Given the description of an element on the screen output the (x, y) to click on. 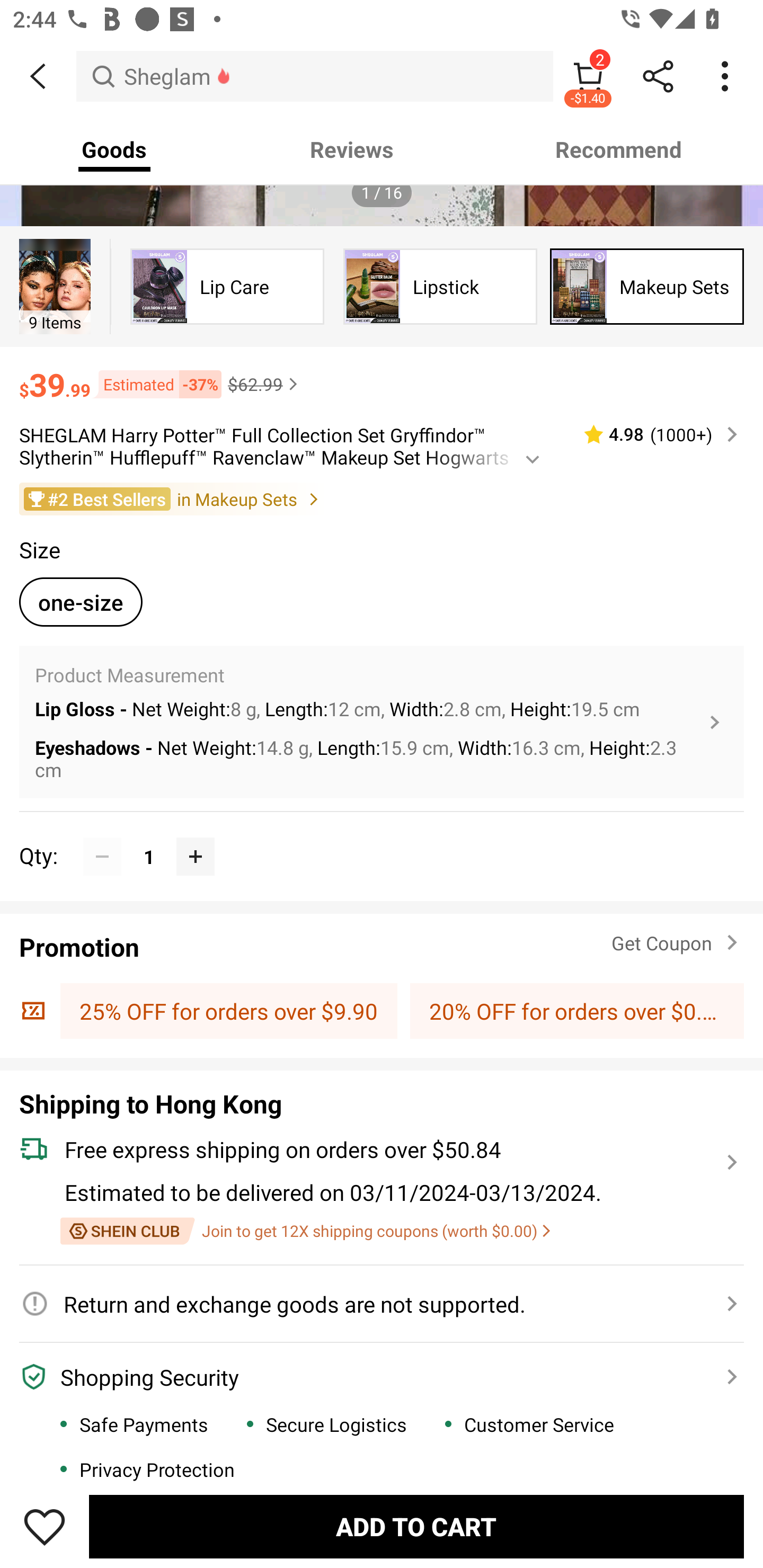
BACK (38, 75)
2 -$1.40 (588, 75)
Sheglam (314, 75)
Goods (114, 149)
Reviews (351, 149)
Recommend (618, 149)
1 / 16 (381, 192)
Lip Care (227, 285)
Lipstick (440, 285)
Makeup Sets (646, 285)
$39.99 Estimated -37% $62.99 (381, 376)
Estimated -37% (155, 384)
$62.99 (265, 384)
4.98 (1000‎+) (653, 433)
#2 Best Sellers in Makeup Sets (381, 498)
Size (39, 549)
one-size one-sizeselected option (80, 602)
Qty: 1 (381, 836)
Join to get 12X shipping coupons (worth $0.00) (305, 1230)
Return and exchange goods are not supported. (370, 1303)
ADD TO CART (416, 1526)
Save (44, 1526)
